Given the description of an element on the screen output the (x, y) to click on. 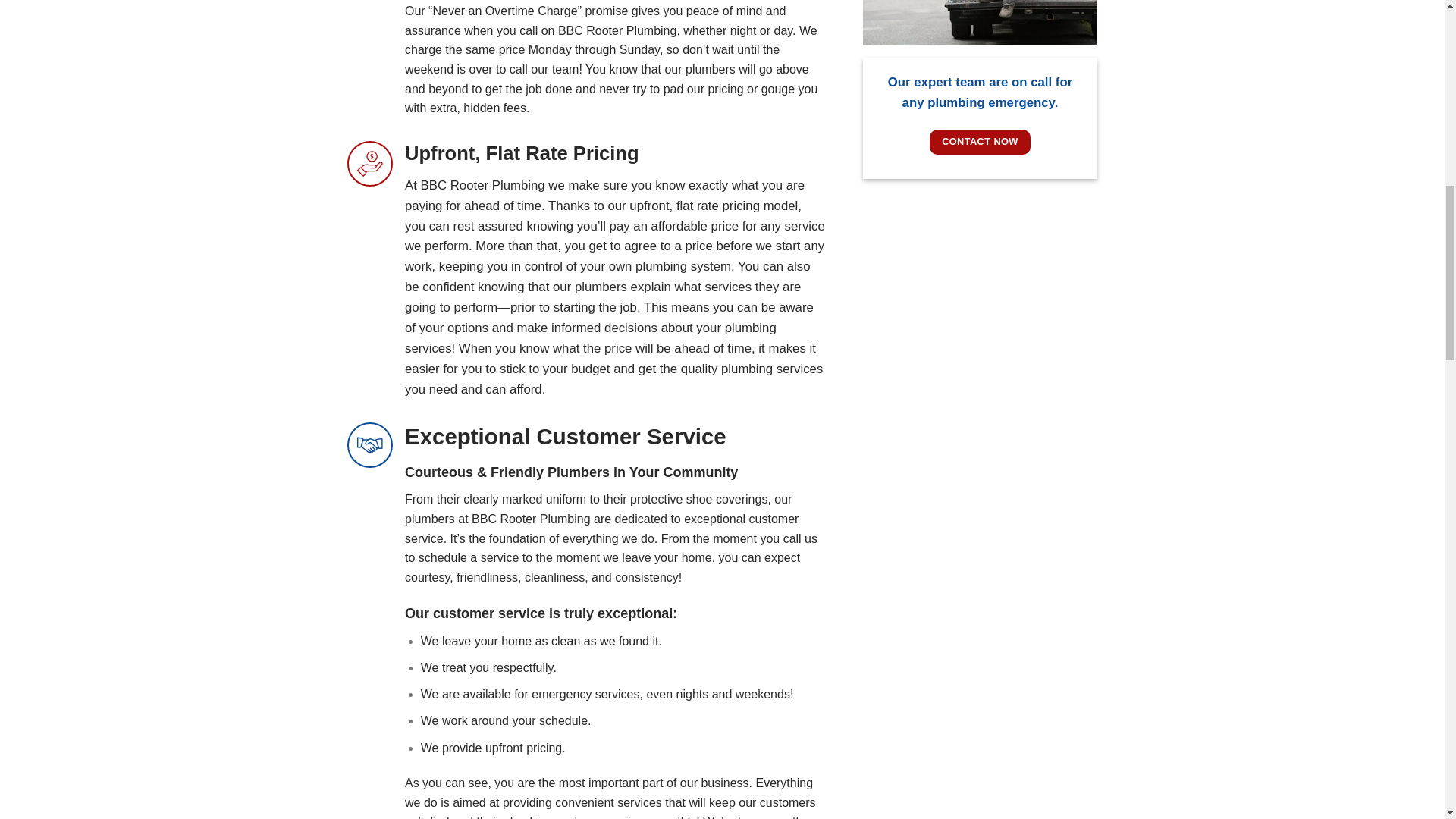
CONTACT NOW (980, 141)
